Given the description of an element on the screen output the (x, y) to click on. 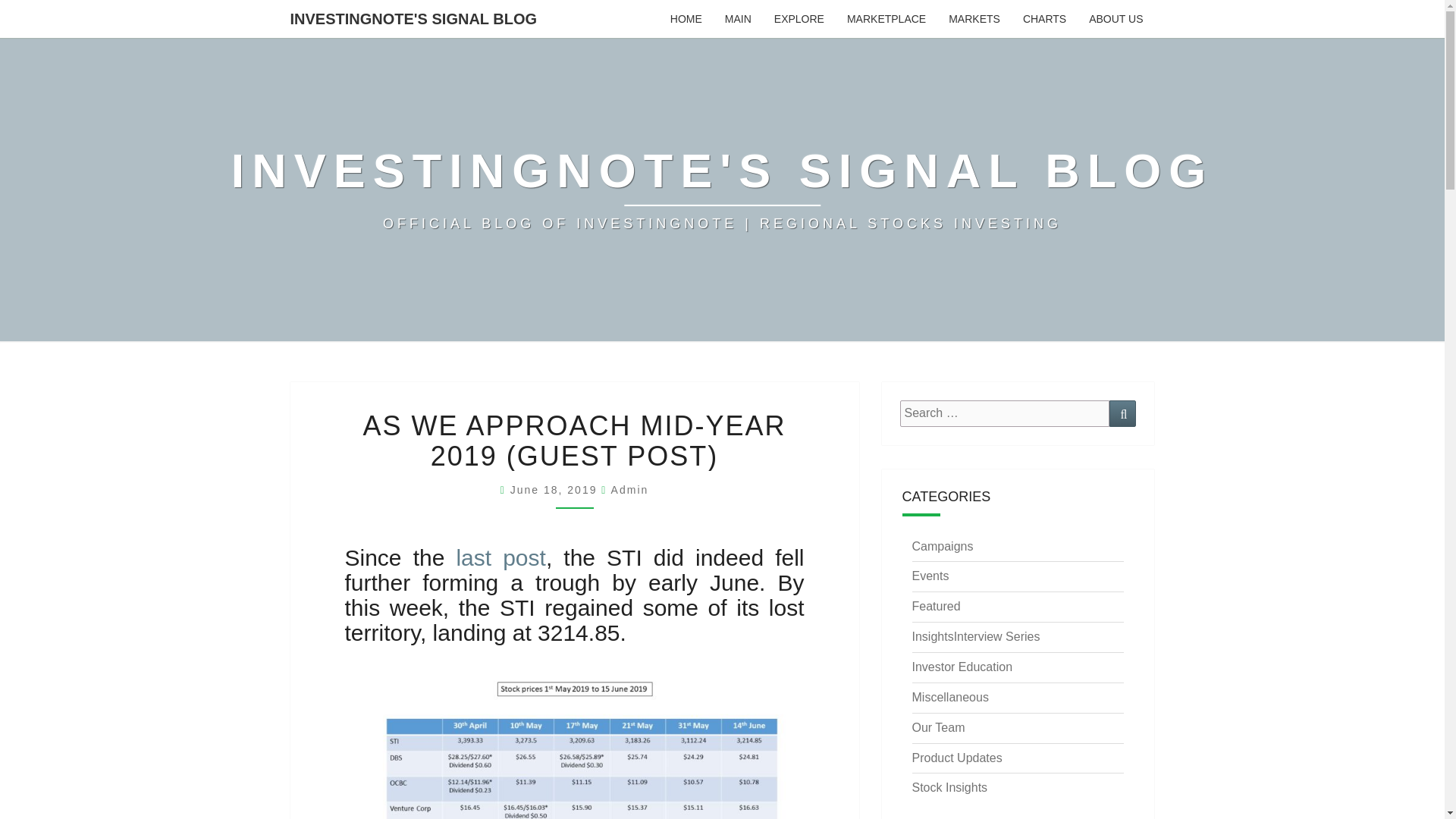
Markets (974, 18)
Our Team (937, 727)
Investor Education (961, 666)
InsightsInterview Series (975, 635)
Campaigns (941, 545)
ABOUT US (1115, 18)
CHARTS (1044, 18)
InvestingNote's Signal Blog (721, 189)
Search (1122, 413)
Search for: (1004, 413)
Charts (1044, 18)
INVESTINGNOTE'S SIGNAL BLOG (413, 18)
Stock Insights (949, 787)
Product Updates (956, 757)
Marketplace (886, 18)
